Given the description of an element on the screen output the (x, y) to click on. 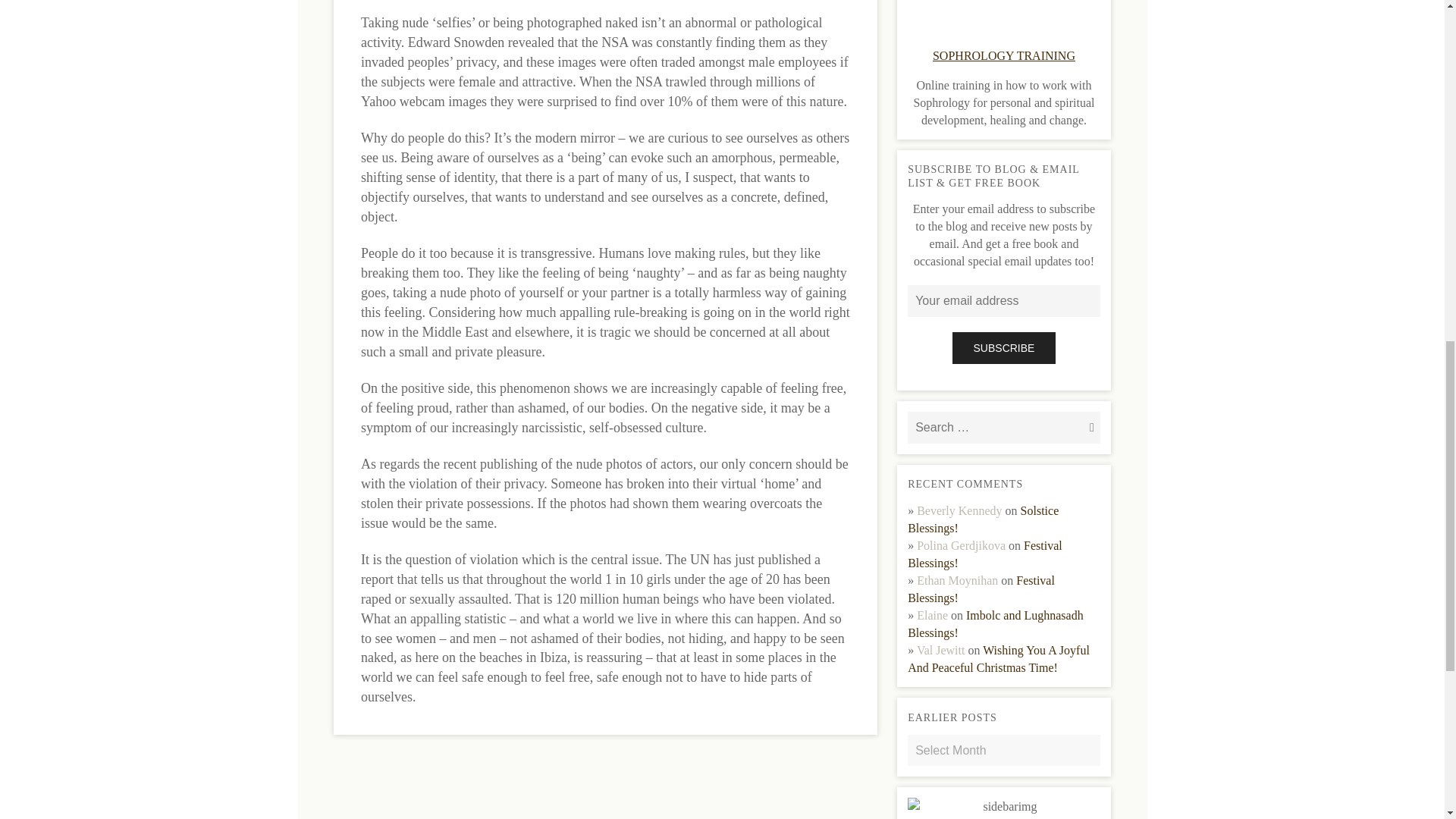
Wishing You A Joyful And Peaceful Christmas Time! (998, 658)
Subscribe (1004, 347)
Subscribe (1004, 347)
Festival Blessings! (984, 553)
Solstice Blessings! (982, 519)
SOPHROLOGY TRAINING (1004, 55)
Imbolc and Lughnasadh Blessings! (995, 624)
Festival Blessings! (980, 589)
